Given the description of an element on the screen output the (x, y) to click on. 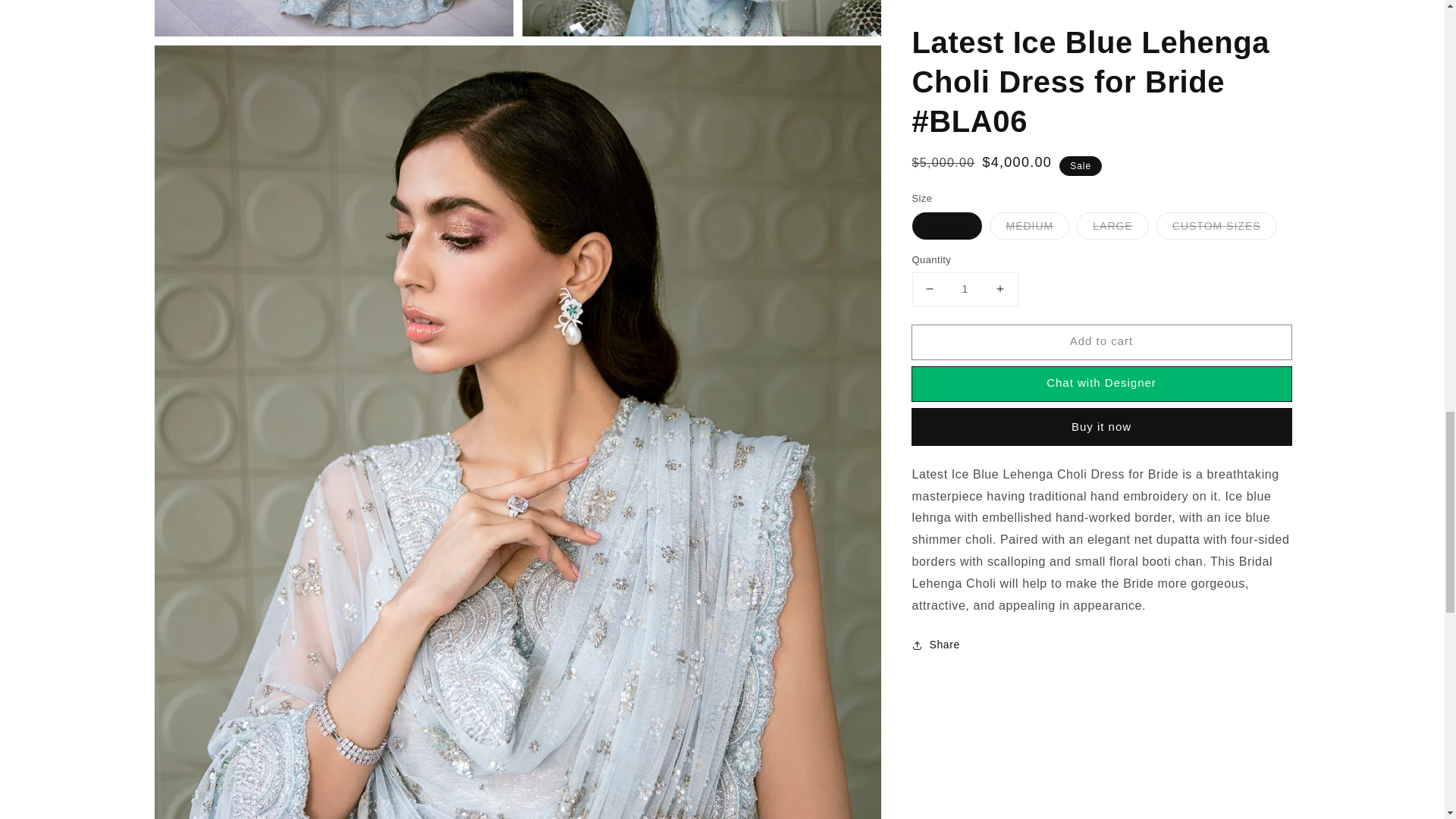
Open media 2 in gallery view (333, 18)
Open media 3 in gallery view (700, 18)
